Given the description of an element on the screen output the (x, y) to click on. 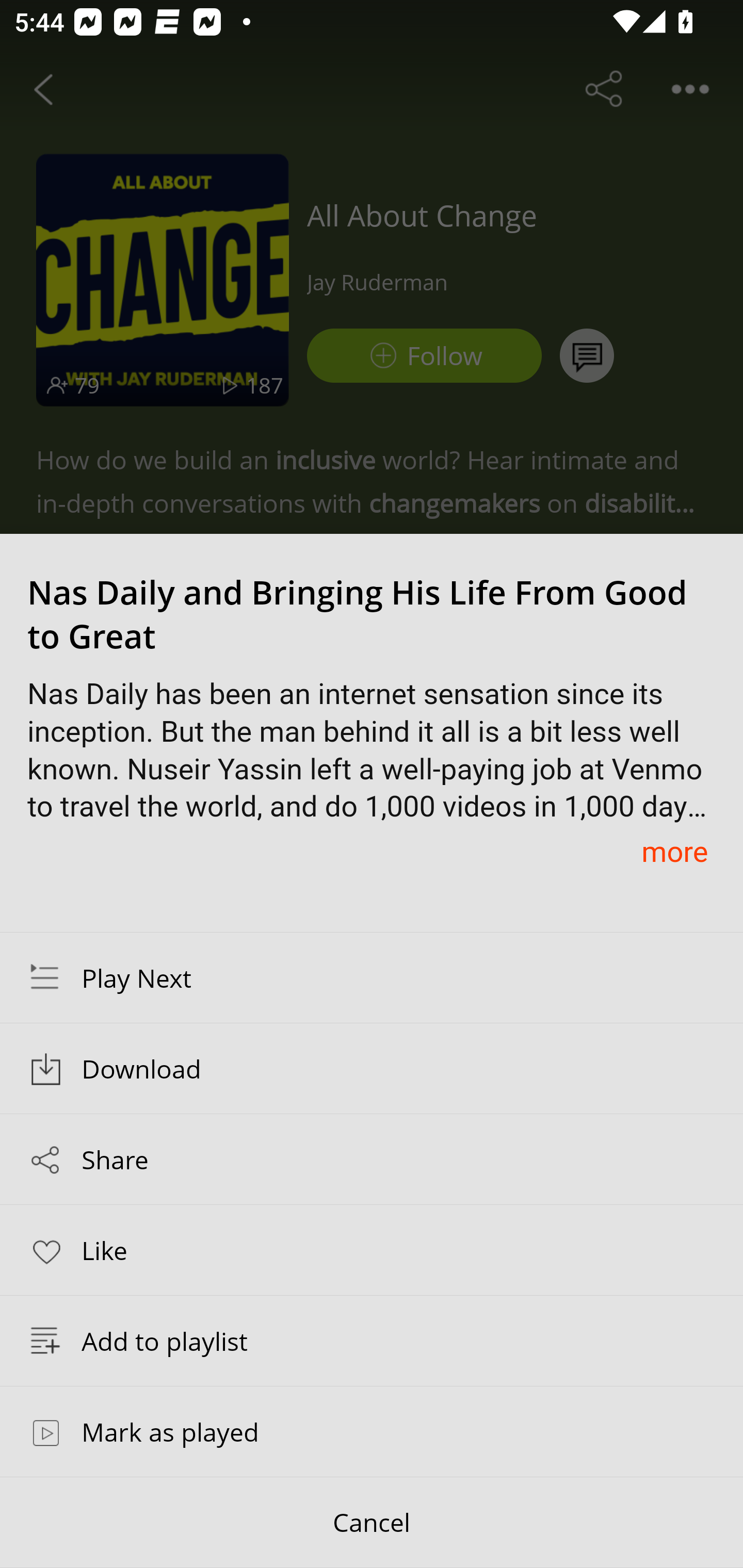
more (674, 851)
Play Next (371, 977)
Download (371, 1068)
Share (371, 1159)
Like (371, 1249)
Add to playlist (371, 1340)
Mark as played (371, 1431)
Cancel (371, 1522)
